Given the description of an element on the screen output the (x, y) to click on. 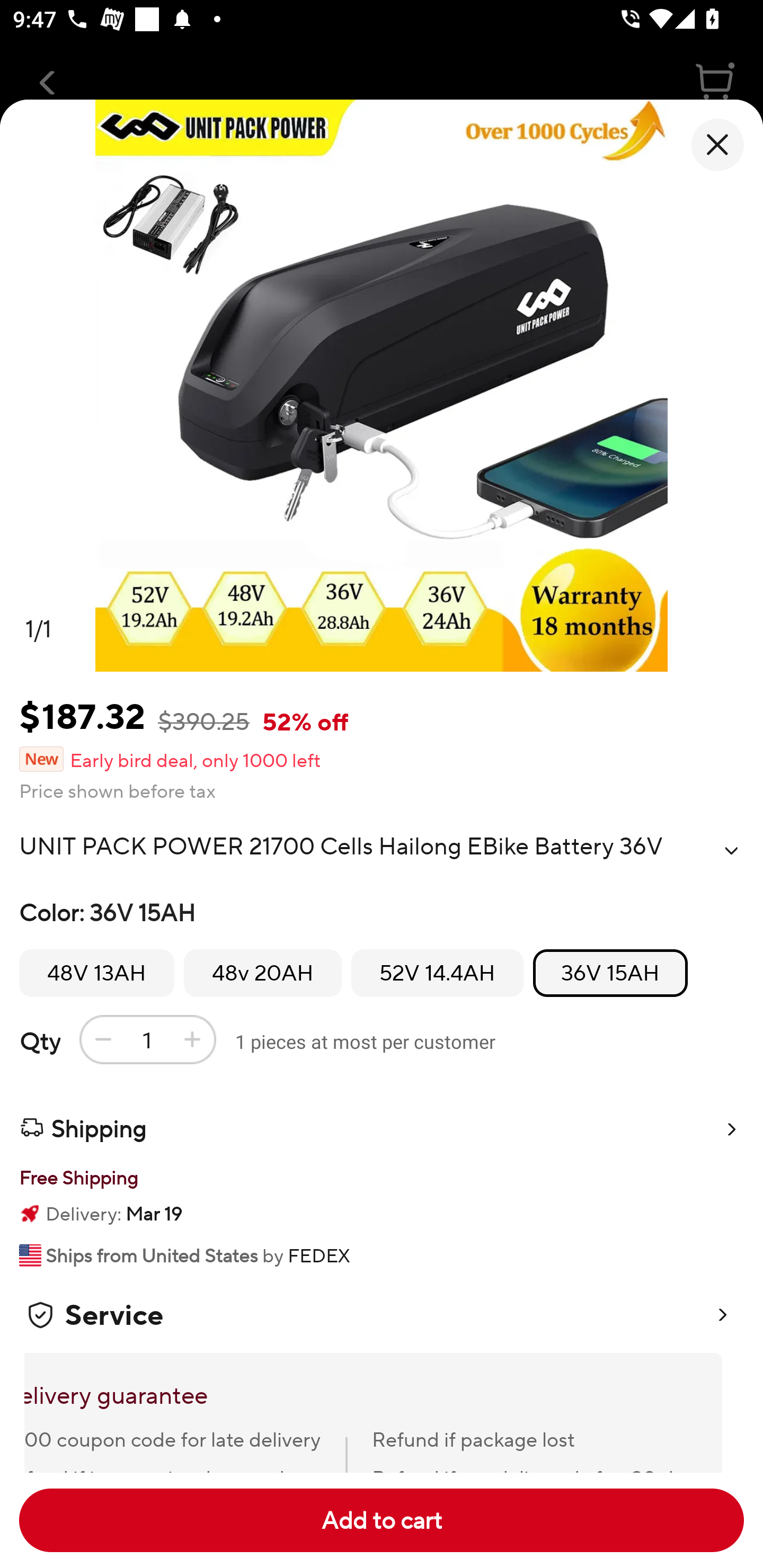
close  (717, 144)
 (730, 850)
48V 13AH (96, 972)
48v 20AH (262, 972)
52V 14.4AH (436, 972)
36V 15AH (610, 972)
Add to cart (381, 1520)
